Given the description of an element on the screen output the (x, y) to click on. 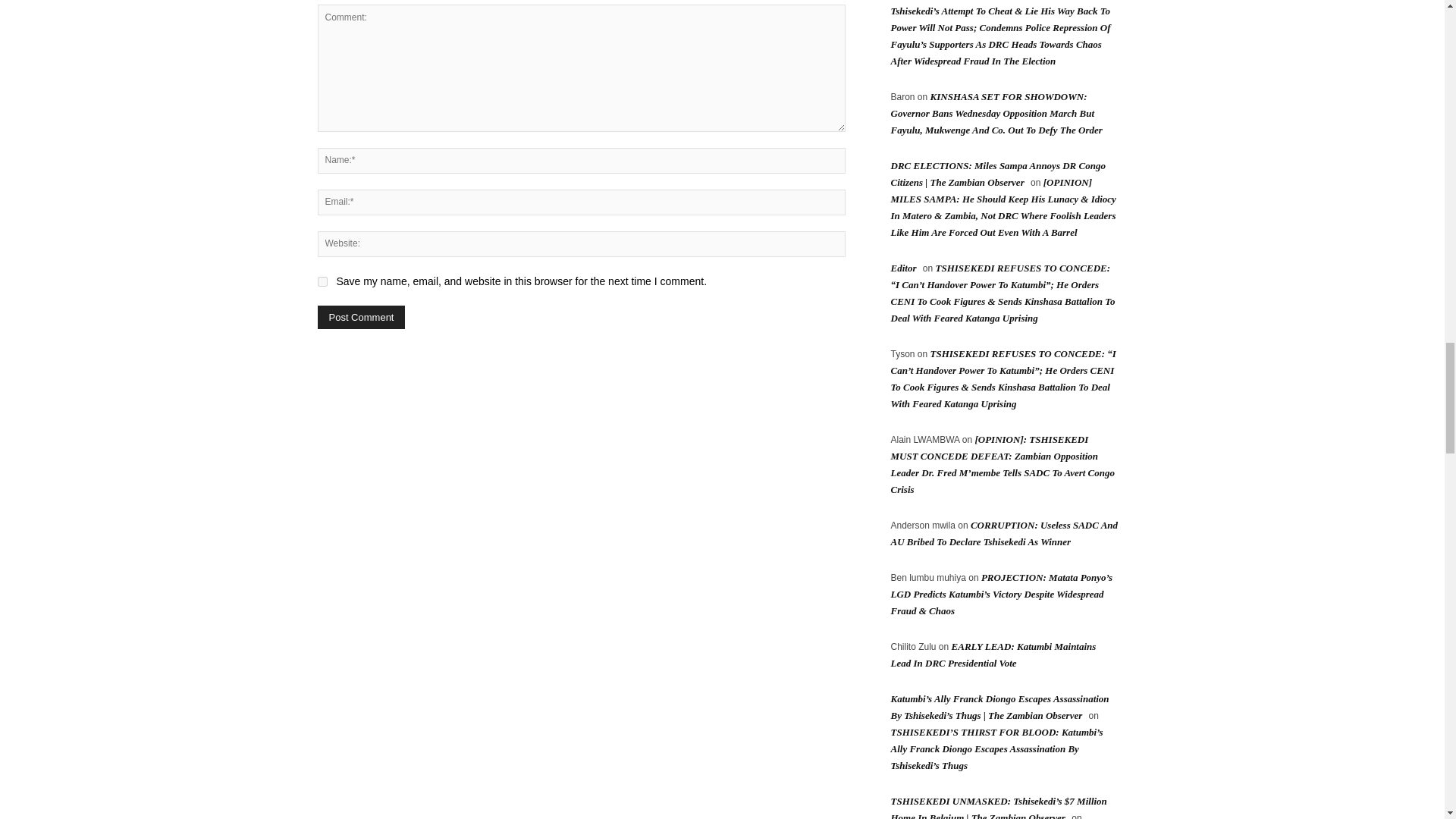
Post Comment (360, 317)
yes (321, 281)
